Given the description of an element on the screen output the (x, y) to click on. 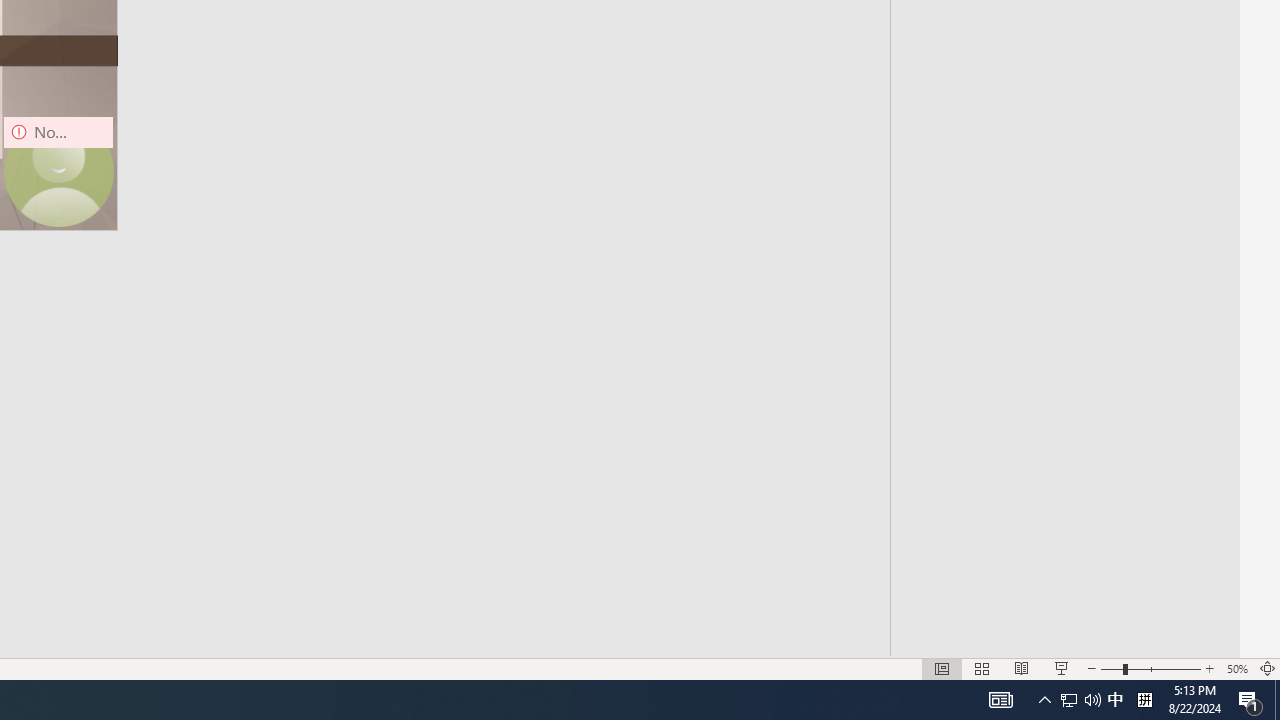
Zoom 50% (1236, 668)
